Given the description of an element on the screen output the (x, y) to click on. 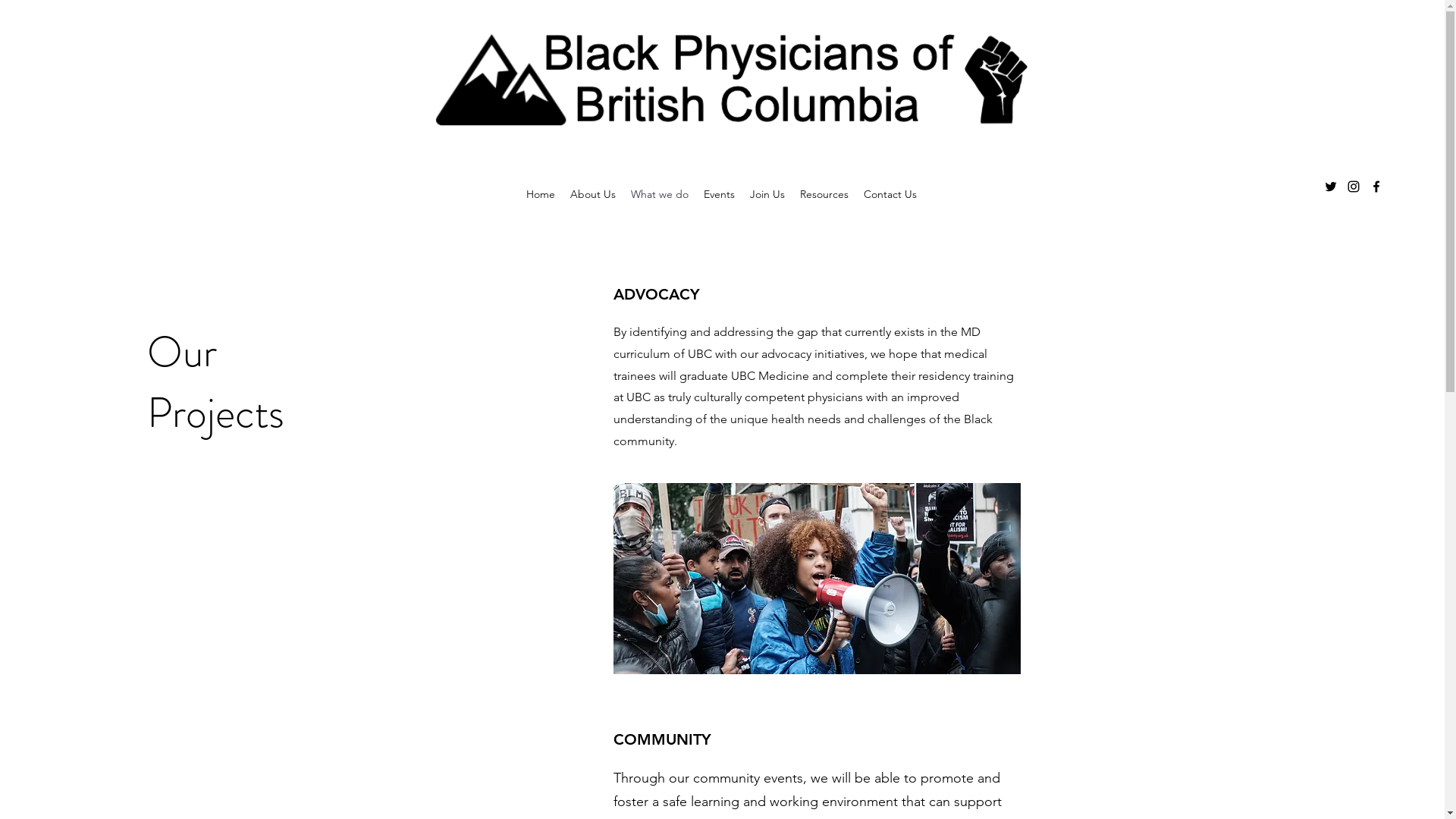
Home Element type: text (540, 193)
thumbnail_Outlook-dcfzp1iq.png Element type: hover (732, 77)
What we do Element type: text (659, 193)
Contact Us Element type: text (890, 193)
About Us Element type: text (592, 193)
Events Element type: text (719, 193)
